Given the description of an element on the screen output the (x, y) to click on. 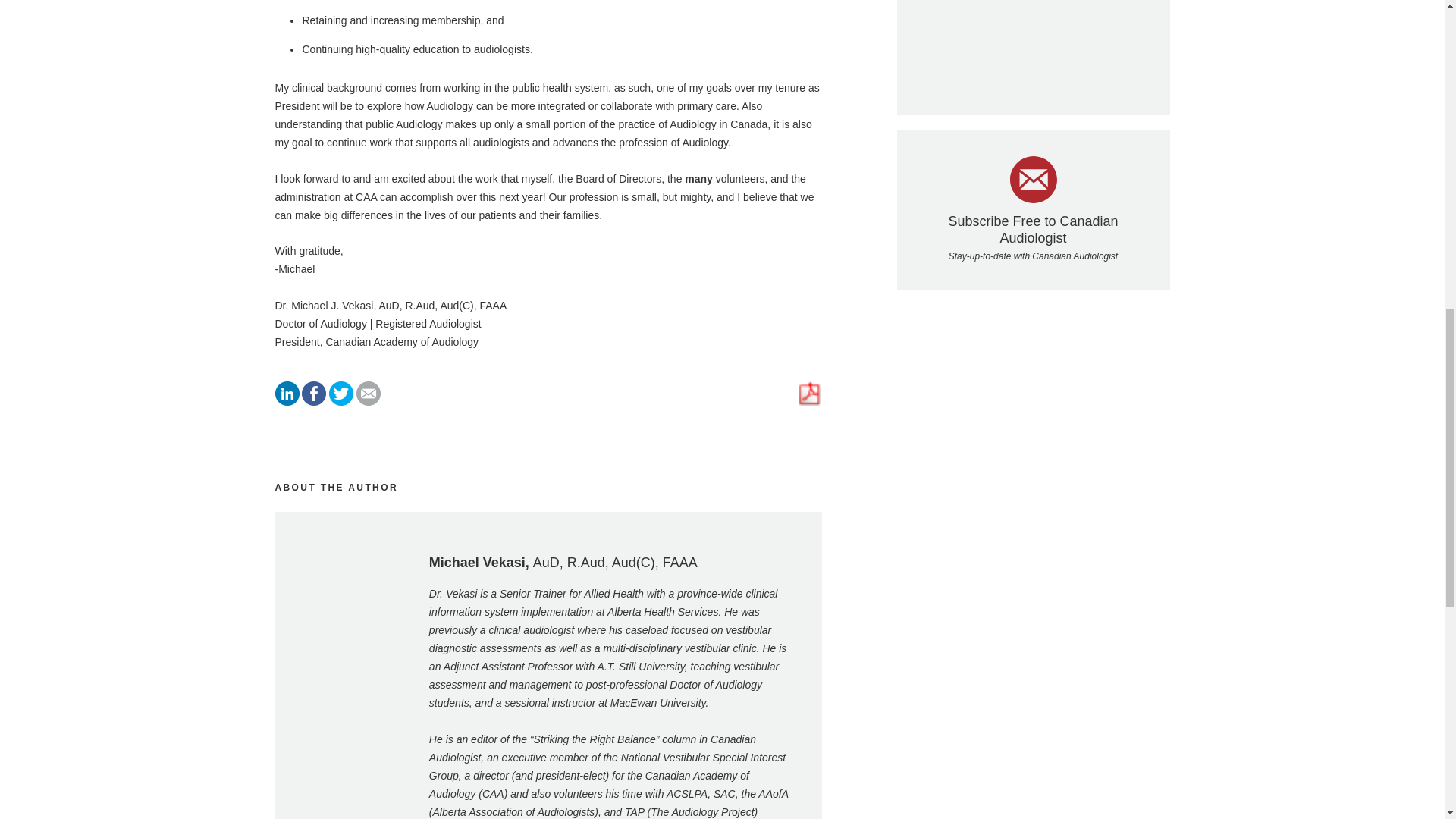
Tweet (341, 401)
Share on LinkedIn (286, 401)
3rd party ad content (1032, 45)
Send email (368, 401)
Share on Facebook (313, 401)
